Given the description of an element on the screen output the (x, y) to click on. 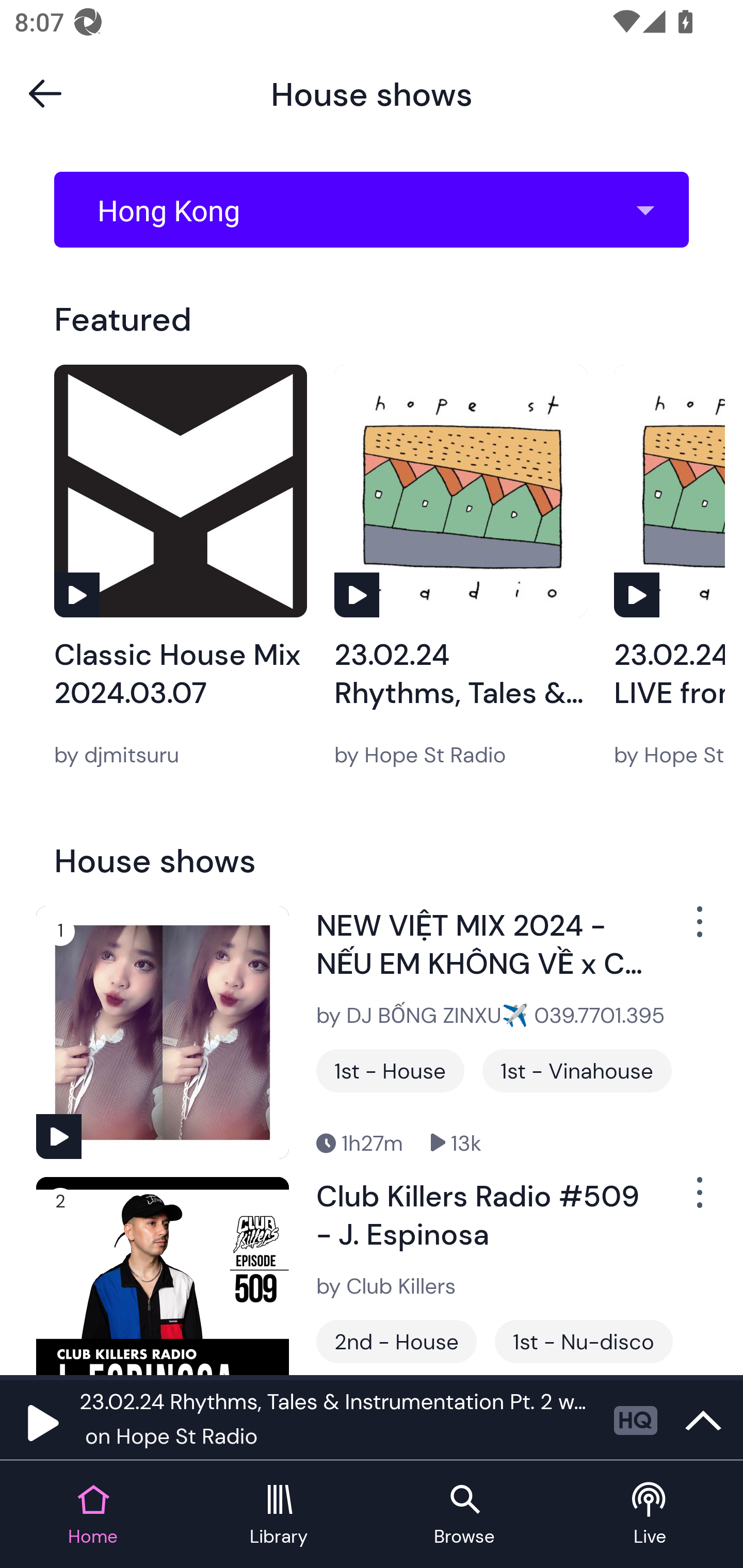
Hong Kong (378, 209)
Show Options Menu Button (697, 929)
1st - House (390, 1070)
1st - Vinahouse (576, 1070)
Show Options Menu Button (697, 1200)
2nd - House (396, 1341)
1st - Nu-disco (583, 1341)
Home tab Home (92, 1515)
Library tab Library (278, 1515)
Browse tab Browse (464, 1515)
Live tab Live (650, 1515)
